Given the description of an element on the screen output the (x, y) to click on. 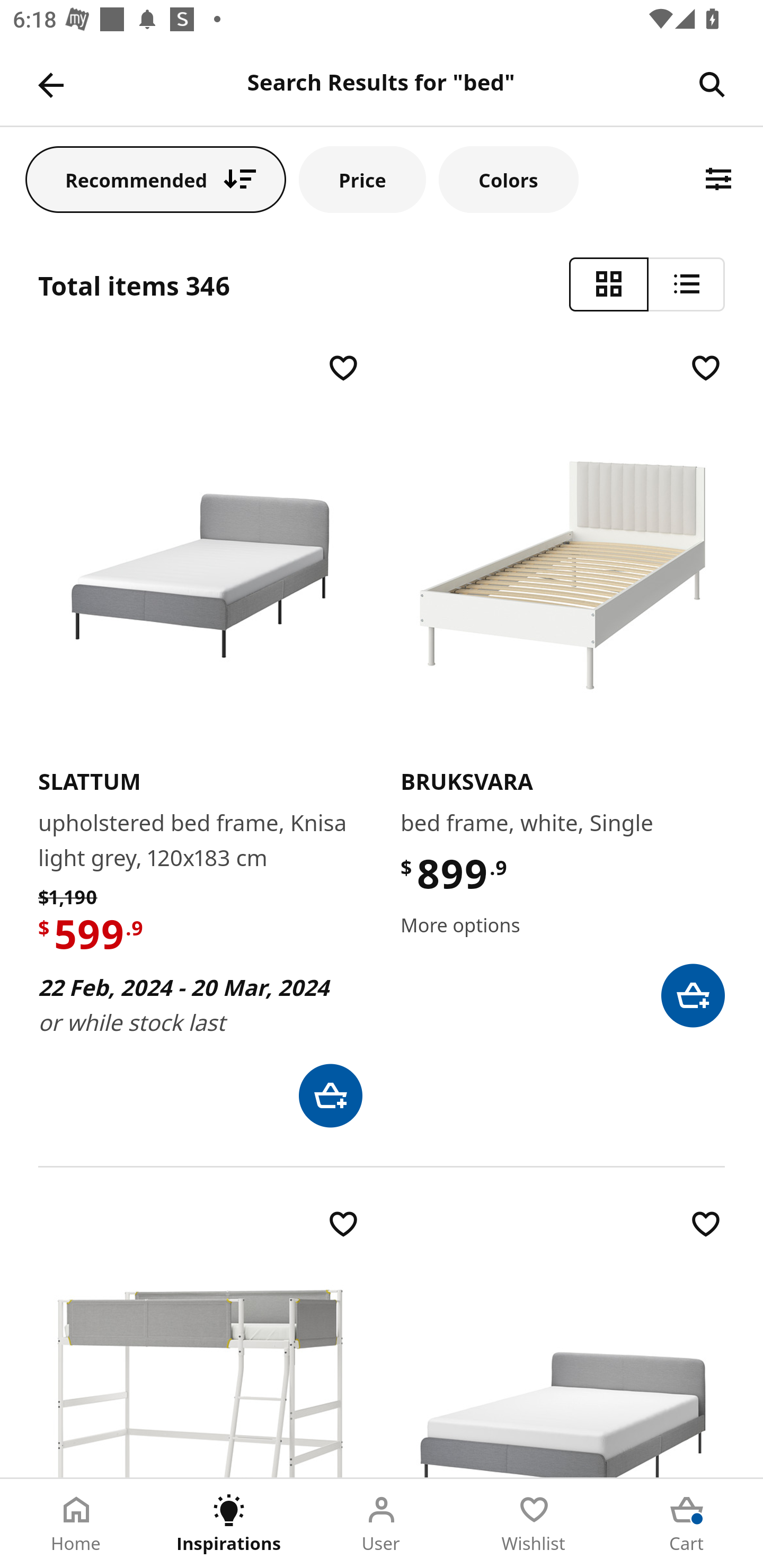
Recommended (155, 179)
Price (362, 179)
Colors (508, 179)
Home
Tab 1 of 5 (76, 1522)
Inspirations
Tab 2 of 5 (228, 1522)
User
Tab 3 of 5 (381, 1522)
Wishlist
Tab 4 of 5 (533, 1522)
Cart
Tab 5 of 5 (686, 1522)
